Given the description of an element on the screen output the (x, y) to click on. 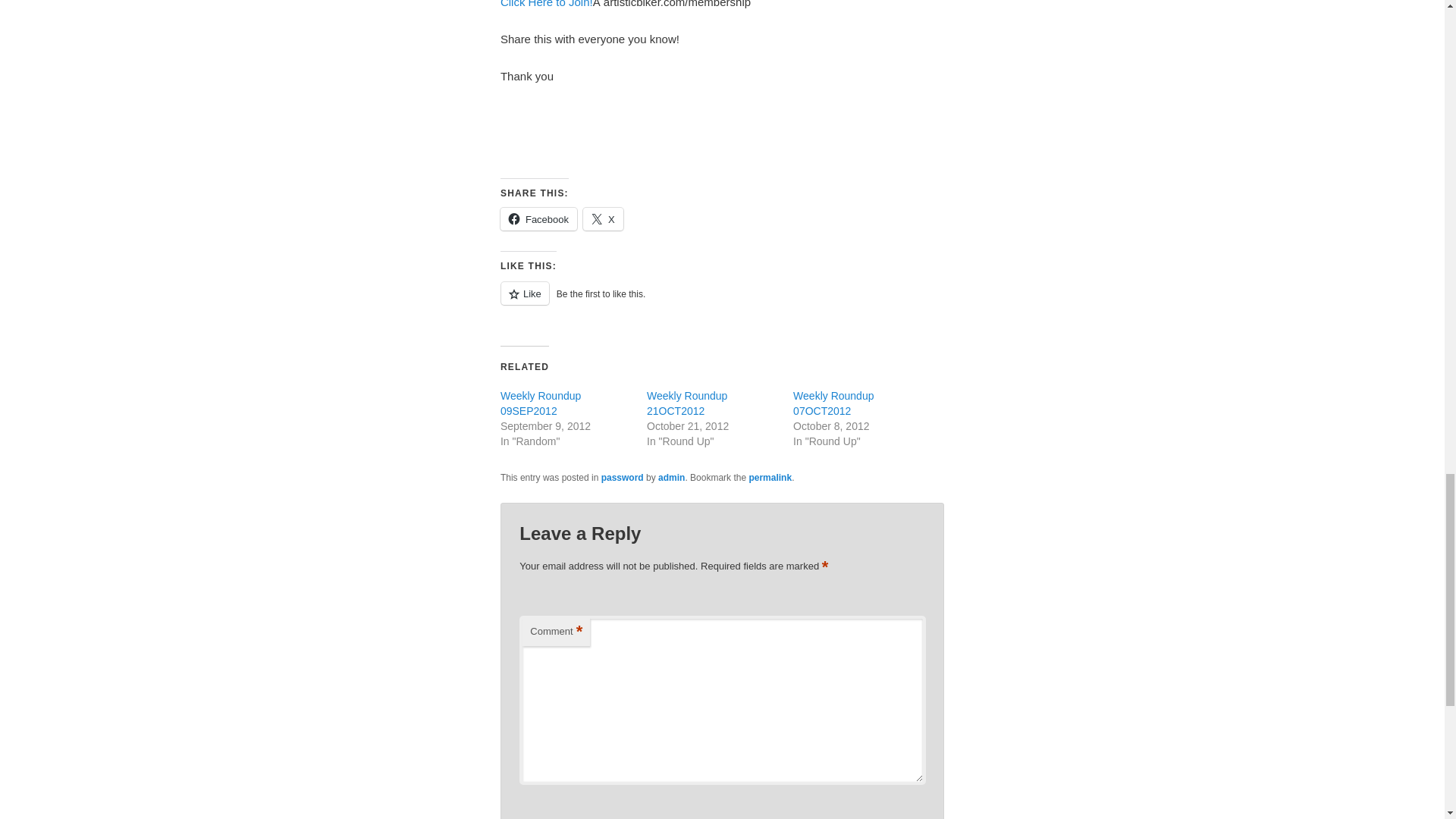
password (622, 477)
X (603, 219)
permalink (770, 477)
Like or Reblog (721, 301)
Weekly Roundup 21OCT2012 (686, 402)
Facebook (538, 219)
Weekly Roundup 07OCT2012 (833, 402)
Weekly Roundup 09SEP2012 (540, 402)
Click to share on Facebook (538, 219)
Permalink to A Brief Note 26FEB2012 (770, 477)
admin (671, 477)
Click to share on X (603, 219)
Weekly Roundup 07OCT2012 (833, 402)
Weekly Roundup 21OCT2012 (686, 402)
Click Here to Join! (546, 4)
